Given the description of an element on the screen output the (x, y) to click on. 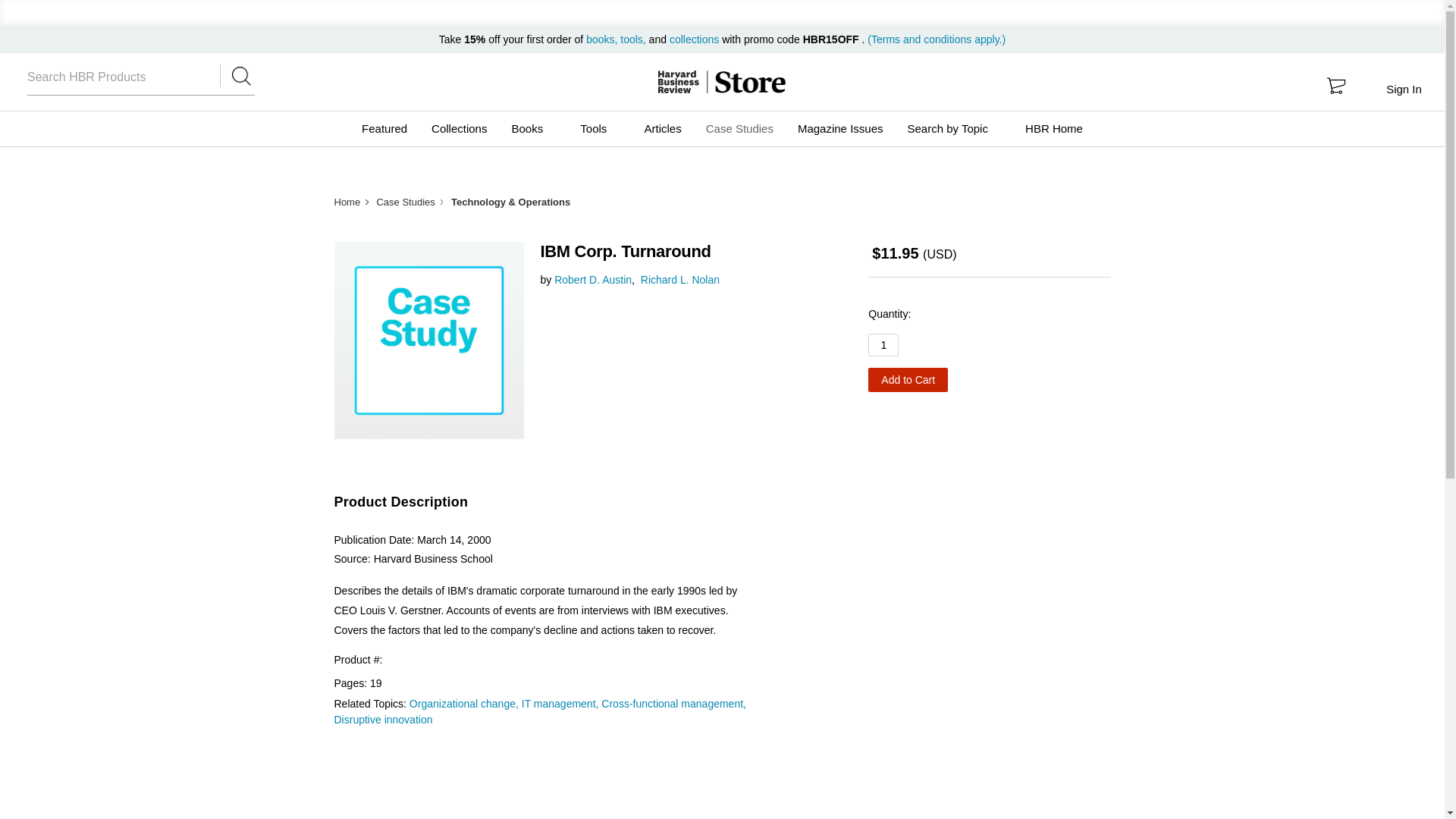
HBR.ORG - Prod (678, 81)
Tools (599, 128)
Books (533, 128)
Featured (384, 128)
Sign In (1403, 88)
1 (882, 344)
books, (603, 39)
Collections (459, 128)
collections (694, 39)
tools, (632, 39)
